Given the description of an element on the screen output the (x, y) to click on. 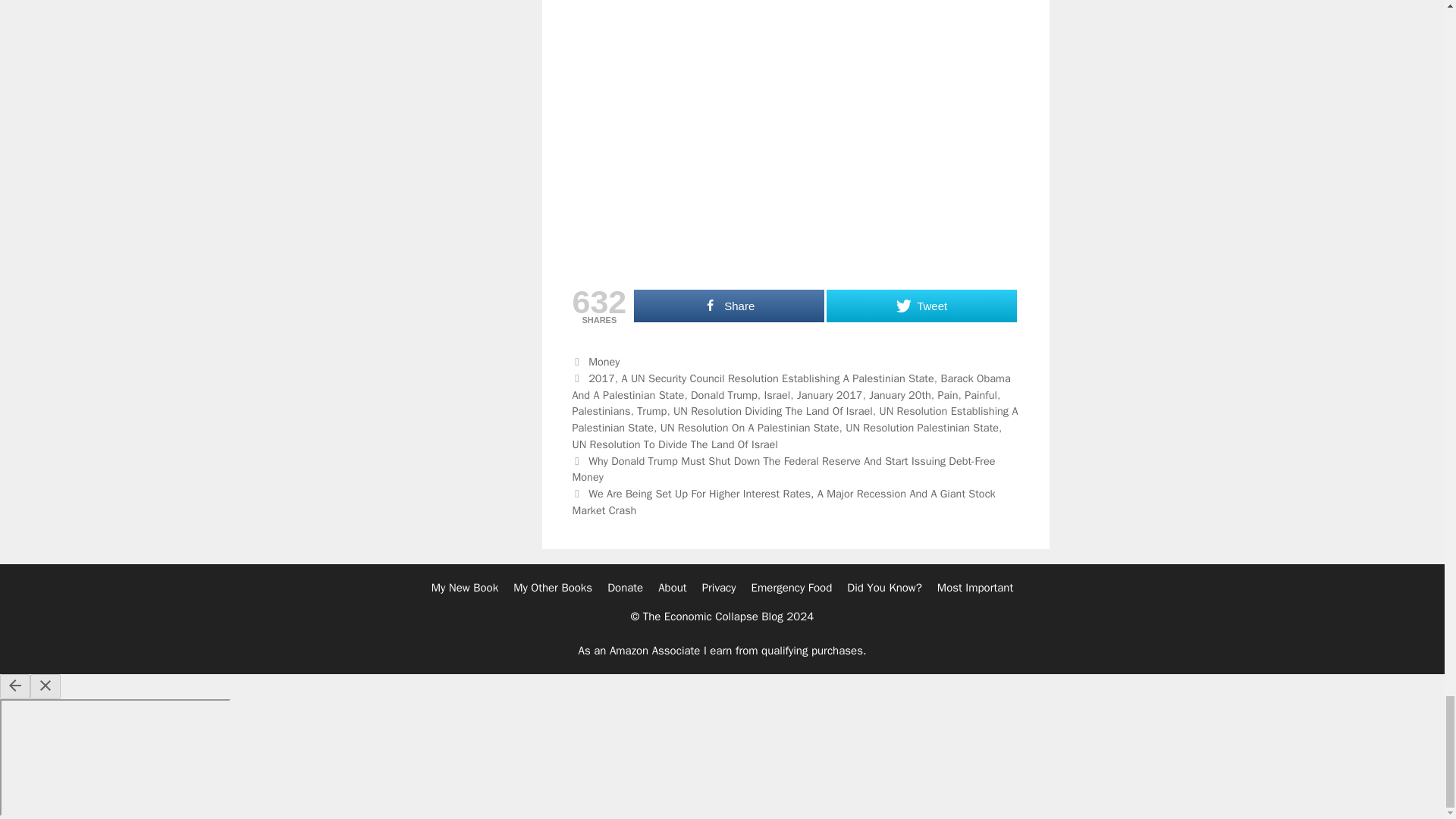
Barack Obama And A Palestinian State (791, 386)
Israel (776, 395)
Donald Trump (723, 395)
UN Resolution Palestinian State (921, 427)
UN Resolution Dividing The Land Of Israel (772, 410)
Painful (980, 395)
January 20th (900, 395)
UN Resolution On A Palestinian State (750, 427)
Trump (651, 410)
2017 (601, 377)
January 2017 (829, 395)
UN Resolution Establishing A Palestinian State (794, 419)
